Given the description of an element on the screen output the (x, y) to click on. 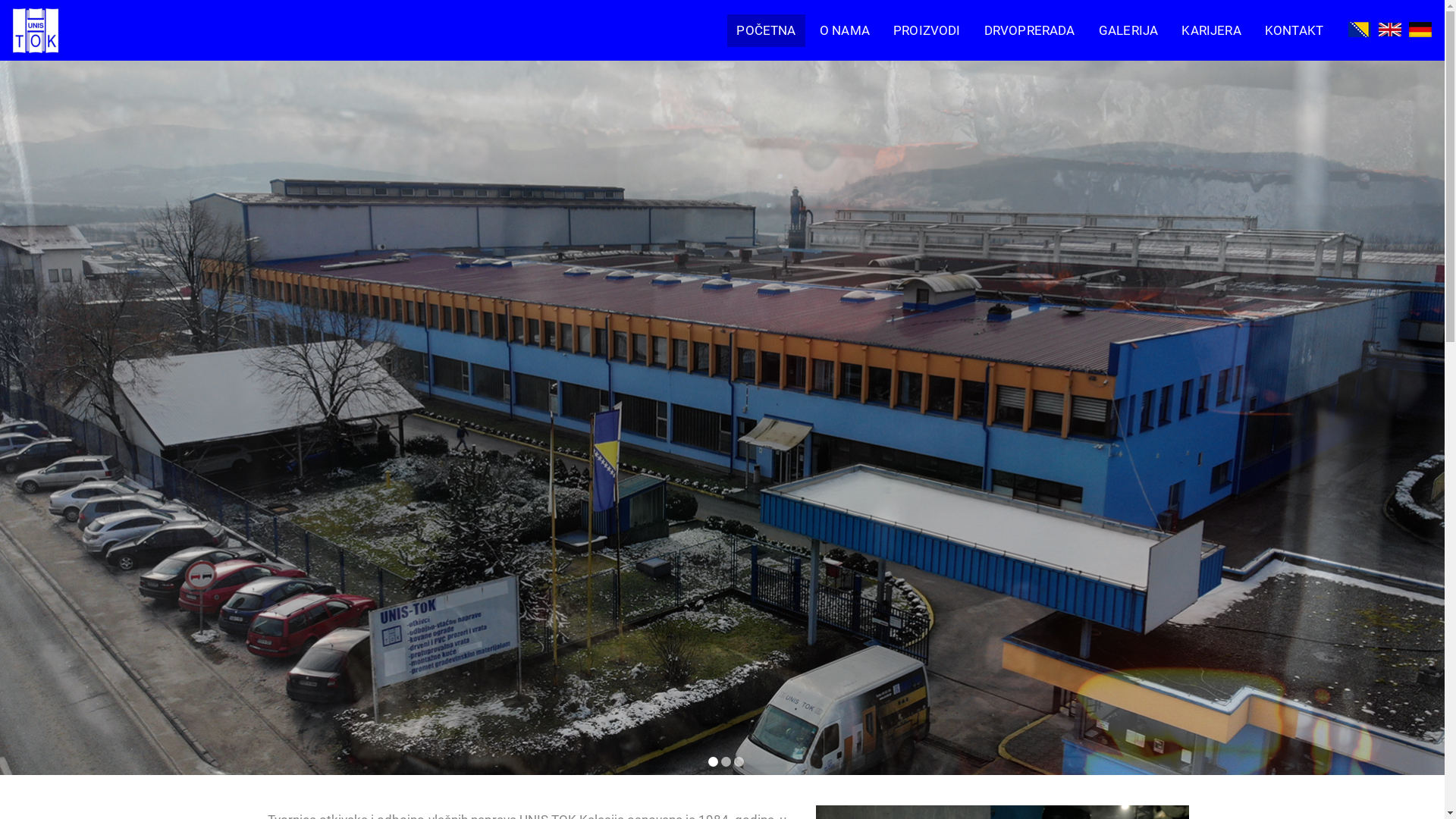
1 Element type: text (713, 761)
2 Element type: text (726, 761)
KARIJERA Element type: text (1211, 30)
ENGLISH Element type: text (1380, 32)
KONTAKT Element type: text (1293, 30)
BOSANSKI Element type: text (1350, 32)
O NAMA Element type: text (844, 30)
DRVOPRERADA Element type: text (1029, 30)
GERMAN Element type: text (1411, 32)
3 Element type: text (738, 761)
PROIZVODI Element type: text (926, 30)
GALERIJA Element type: text (1128, 30)
